Given the description of an element on the screen output the (x, y) to click on. 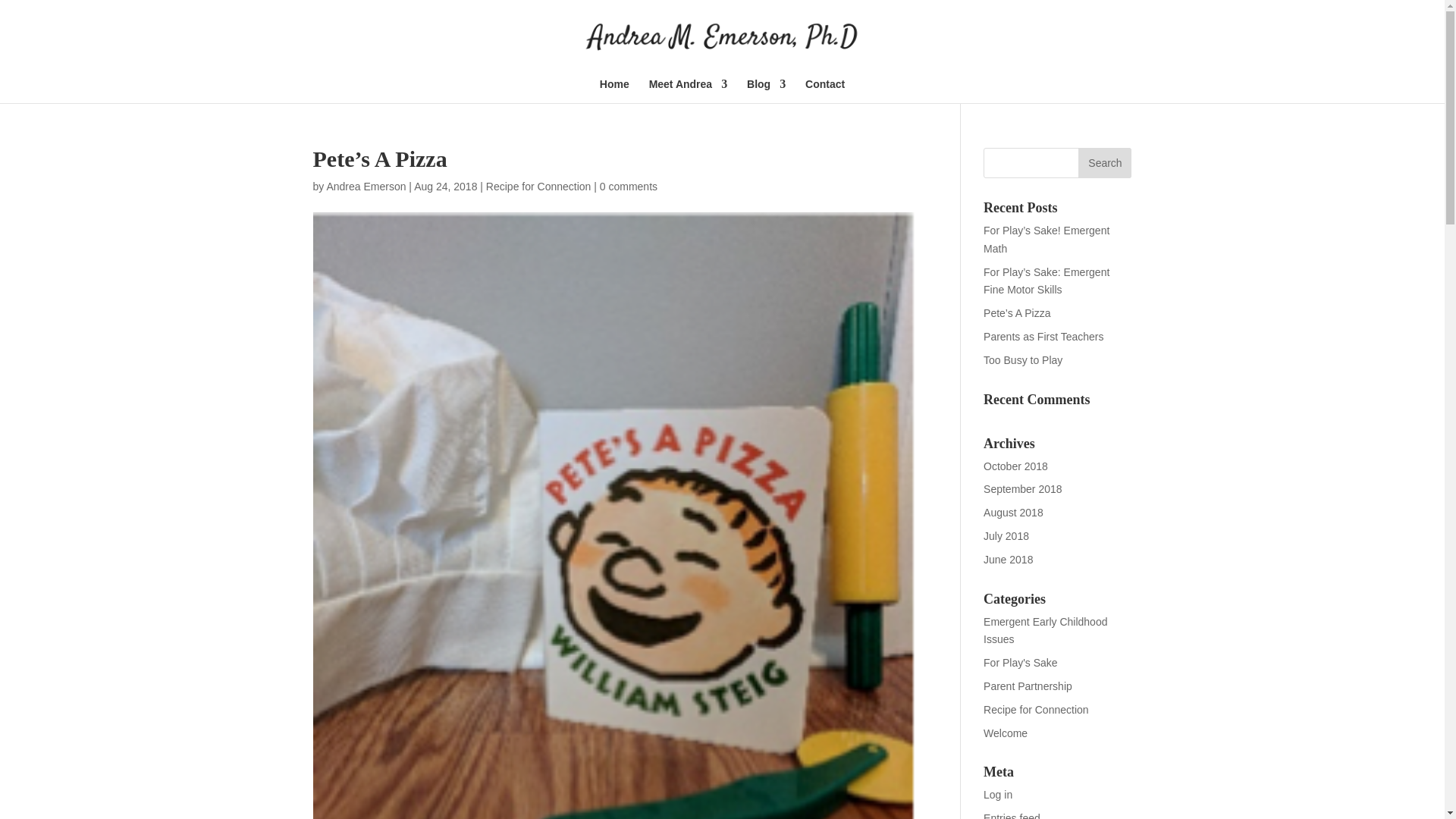
Parents as First Teachers (1043, 336)
Blog (766, 90)
Recipe for Connection (1036, 709)
Search (1104, 163)
Recipe for Connection (538, 186)
August 2018 (1013, 512)
Posts by Andrea Emerson (366, 186)
September 2018 (1023, 489)
Home (613, 90)
October 2018 (1016, 466)
Emergent Early Childhood Issues (1045, 630)
For Play's Sake (1021, 662)
June 2018 (1008, 559)
0 comments (628, 186)
Too Busy to Play (1023, 359)
